Given the description of an element on the screen output the (x, y) to click on. 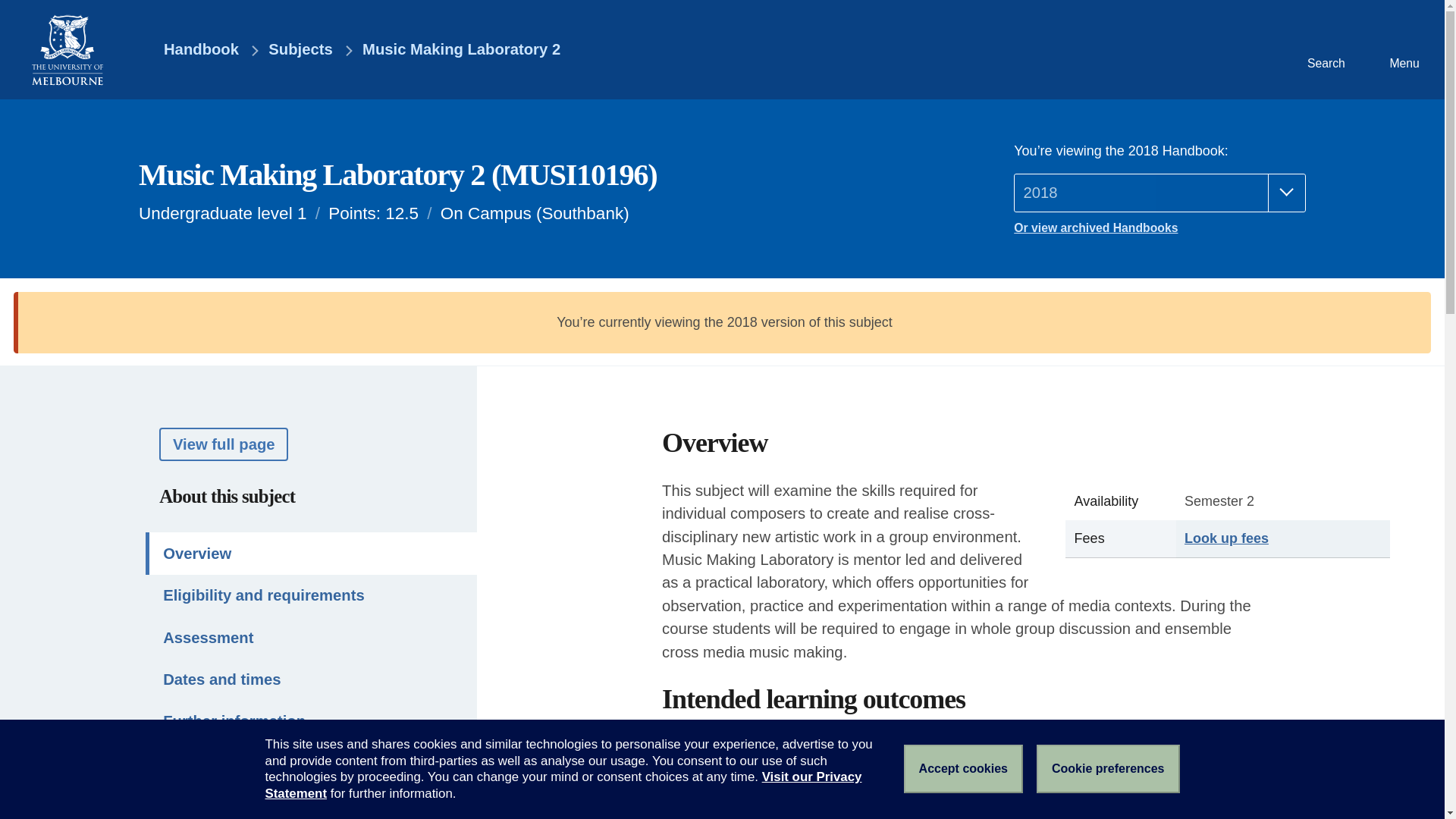
Subjects (299, 49)
Handbook (189, 49)
Or view archived Handbooks (1159, 228)
Search (1324, 49)
View full page (223, 443)
Music Making Laboratory 2 (461, 49)
Overview (311, 553)
Search (1324, 49)
Dates and times (311, 679)
Assessment (311, 637)
